Given the description of an element on the screen output the (x, y) to click on. 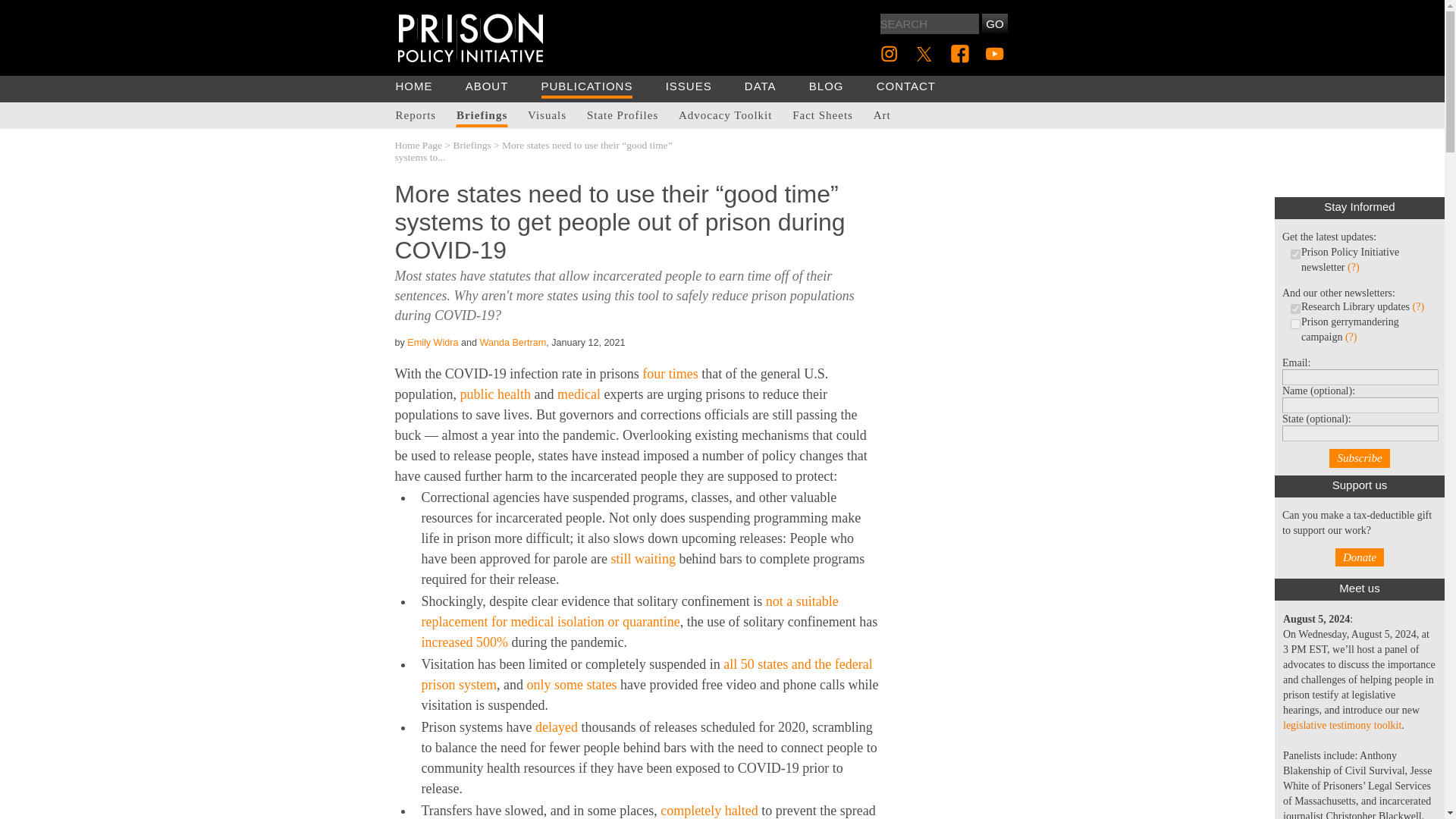
Fact Sheets (822, 113)
4001743 (1295, 253)
ABOUT (486, 85)
BLOG (826, 85)
CONTACT (906, 85)
DATA (760, 85)
4001745 (1295, 307)
Briefings (481, 113)
4001744 (1295, 323)
HOME (414, 85)
ISSUES (688, 85)
PUBLICATIONS (587, 87)
Visuals (546, 113)
Advocacy Toolkit (724, 113)
Reports (416, 113)
